Given the description of an element on the screen output the (x, y) to click on. 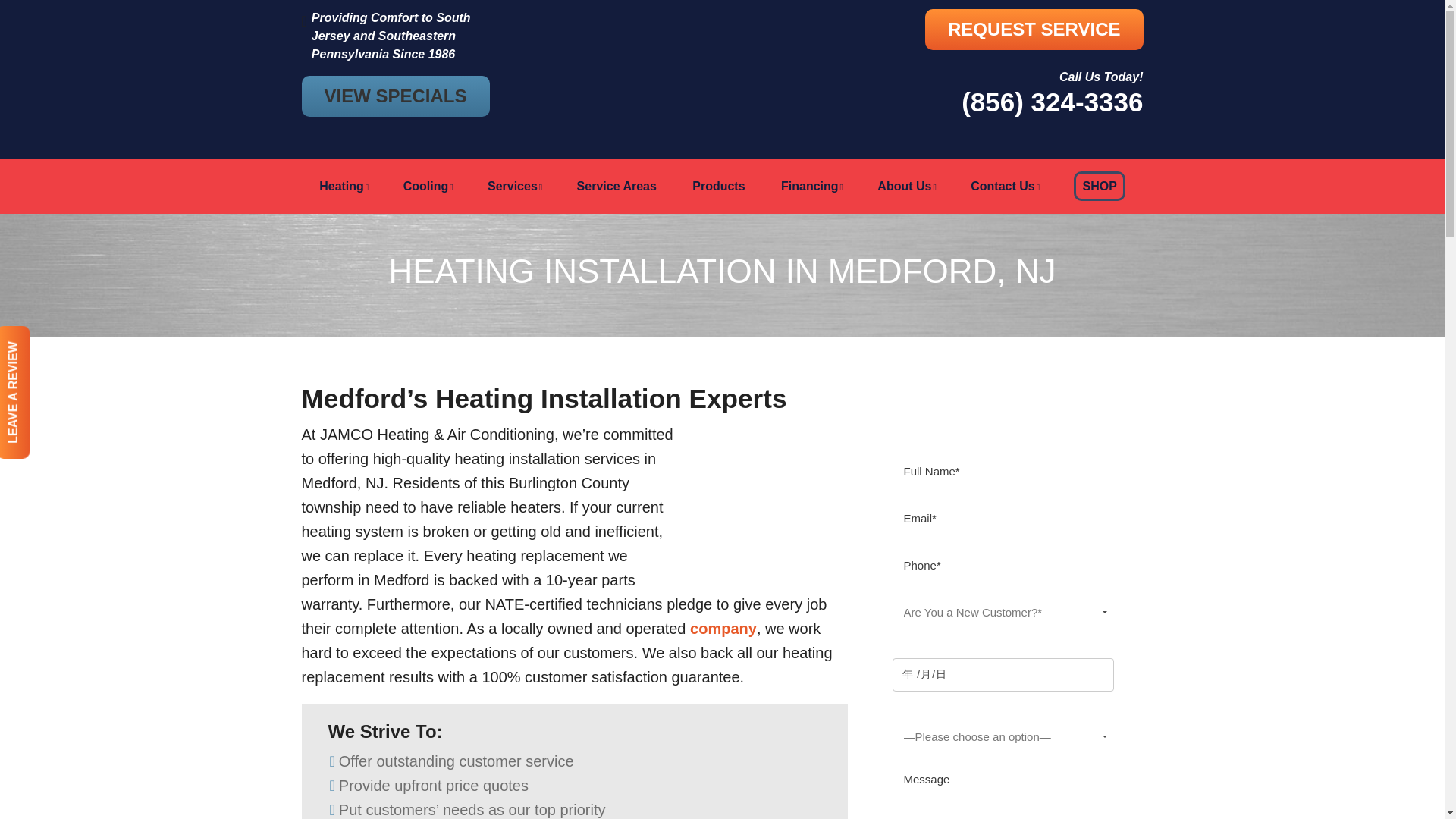
About Us (905, 185)
Products (718, 185)
Heating (342, 185)
Cooling (427, 185)
SHOP (1099, 185)
Services (513, 185)
REQUEST SERVICE (1033, 29)
VIEW SPECIALS (395, 96)
Service Areas (616, 185)
Financing (811, 185)
